Given the description of an element on the screen output the (x, y) to click on. 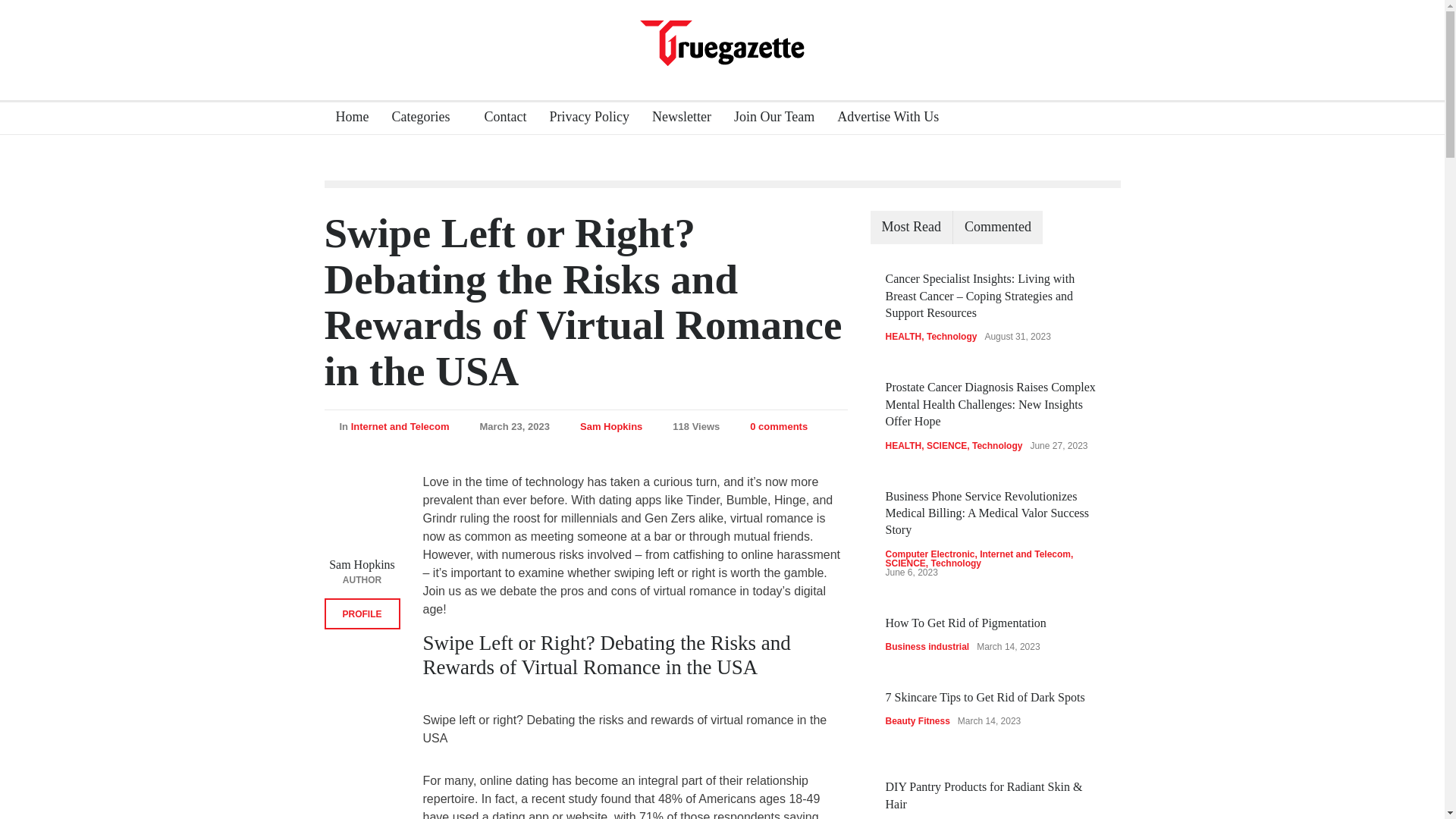
View all posts filed under Internet and Telecom (399, 426)
Advertise With Us (882, 118)
0 comments (778, 426)
0 comments (771, 426)
Sam Hopkins (610, 426)
Privacy Policy (582, 118)
Sam Hopkins (610, 426)
Internet and Telecom (399, 426)
Truegazette (722, 40)
Categories (426, 118)
0 comments (778, 426)
Sam Hopkins (362, 510)
Home (346, 118)
Join Our Team (767, 118)
Contact (498, 118)
